Given the description of an element on the screen output the (x, y) to click on. 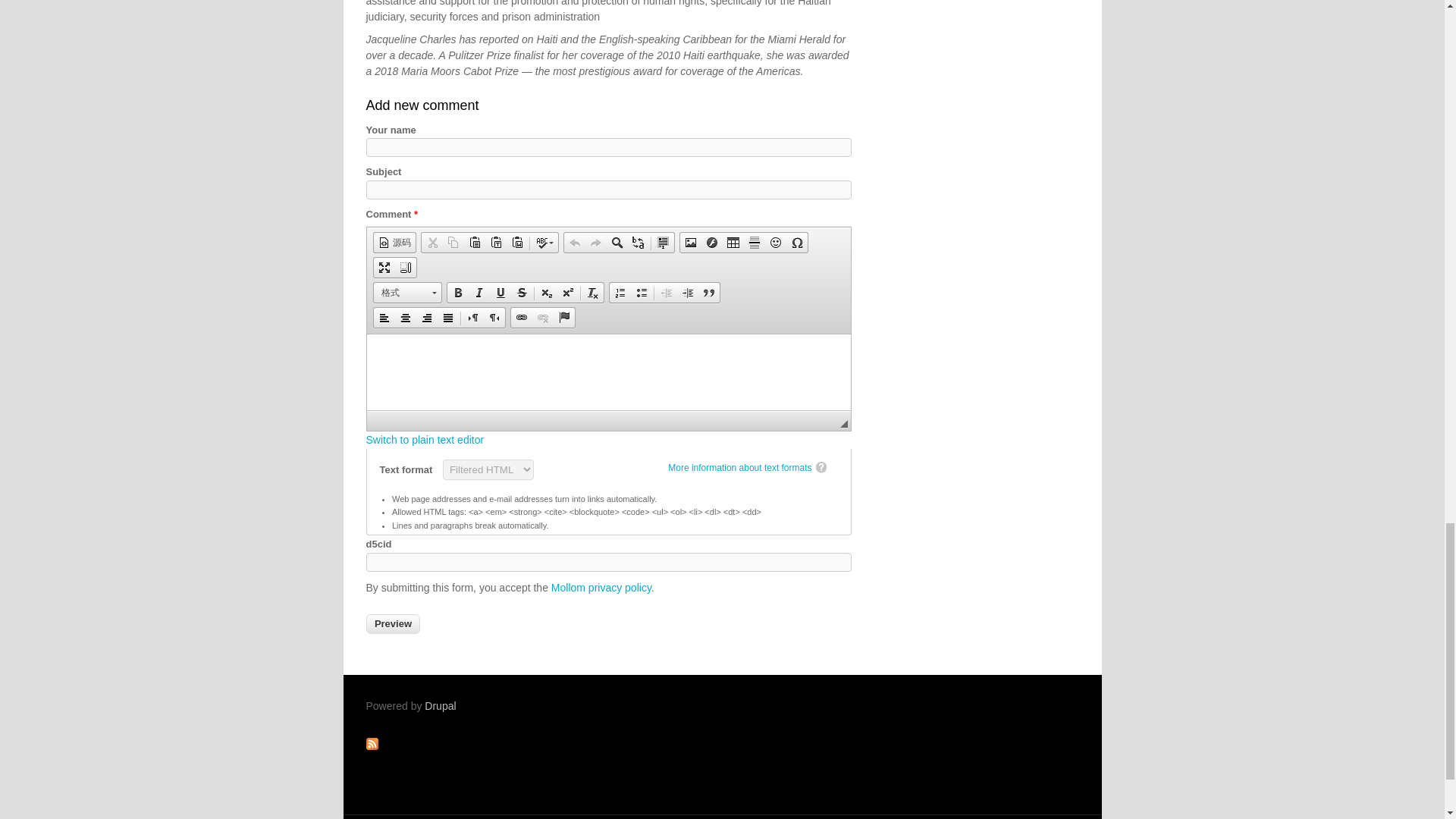
Flash (711, 242)
This field is required. (415, 214)
